Given the description of an element on the screen output the (x, y) to click on. 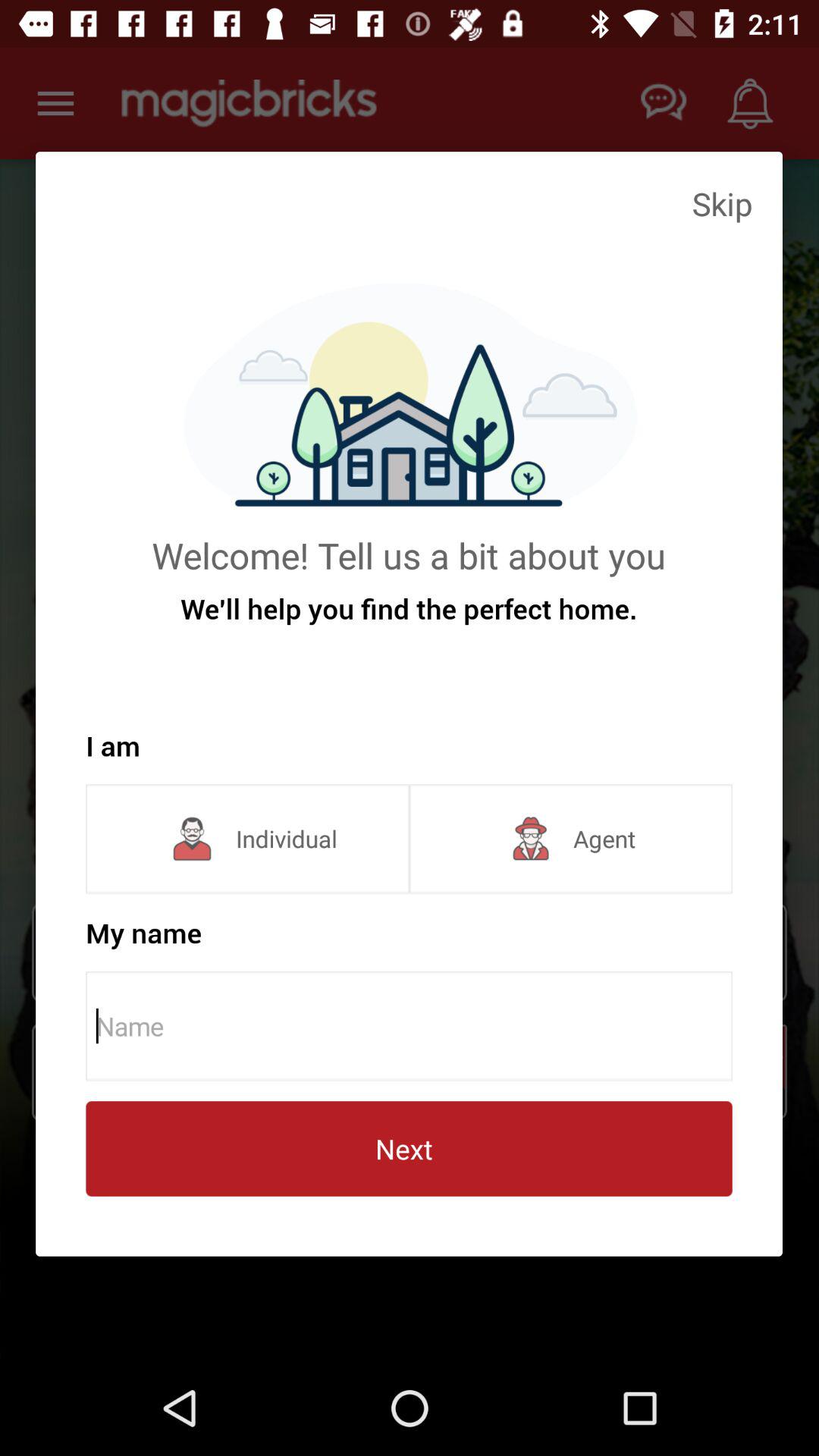
swipe to the skip icon (722, 203)
